Given the description of an element on the screen output the (x, y) to click on. 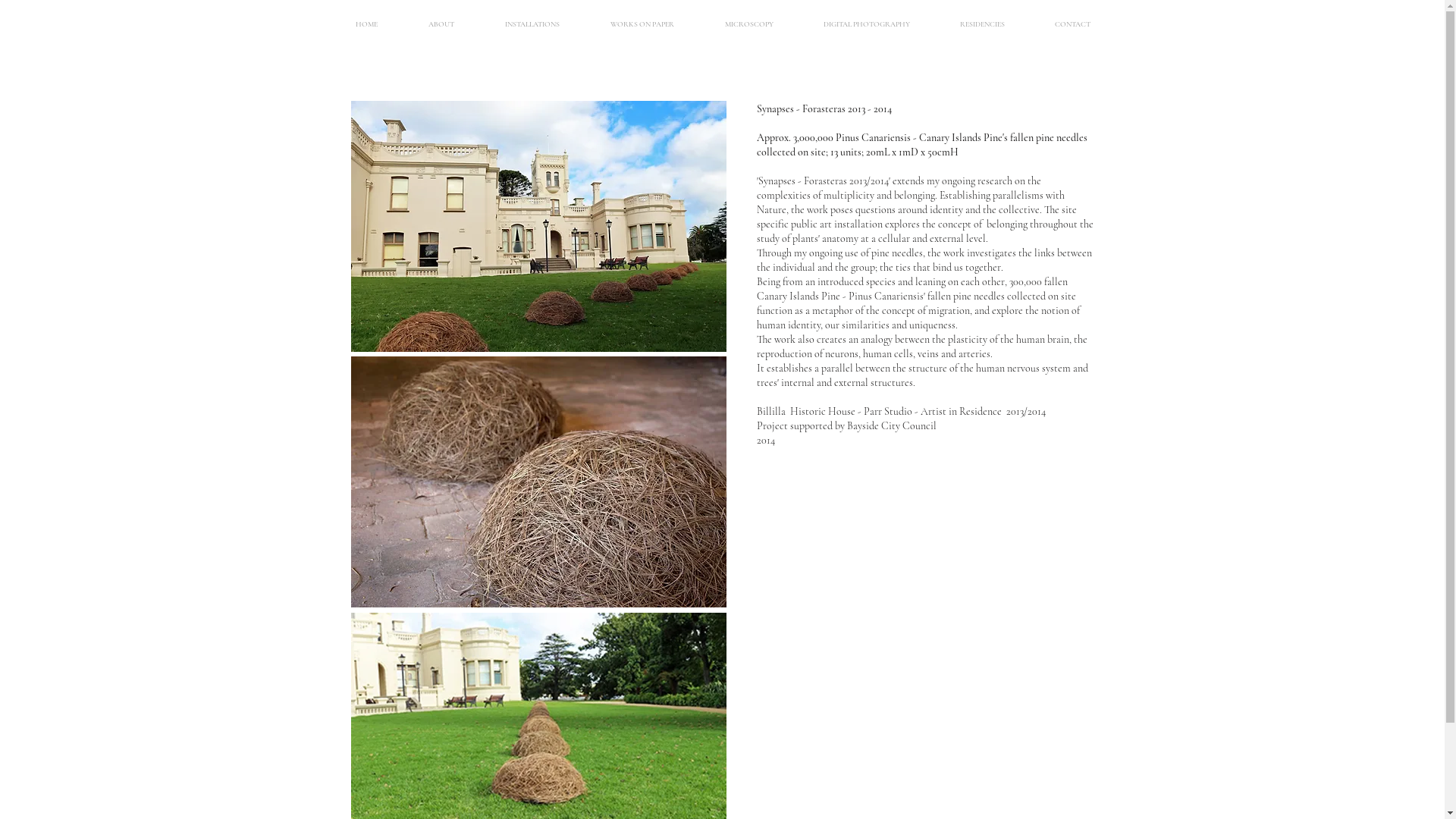
DIGITAL PHOTOGRAPHY Element type: text (865, 24)
CONTACT Element type: text (1072, 24)
HOME Element type: text (366, 24)
ABOUT Element type: text (441, 24)
WORKS ON PAPER Element type: text (642, 24)
RESIDENCIES Element type: text (981, 24)
